Given the description of an element on the screen output the (x, y) to click on. 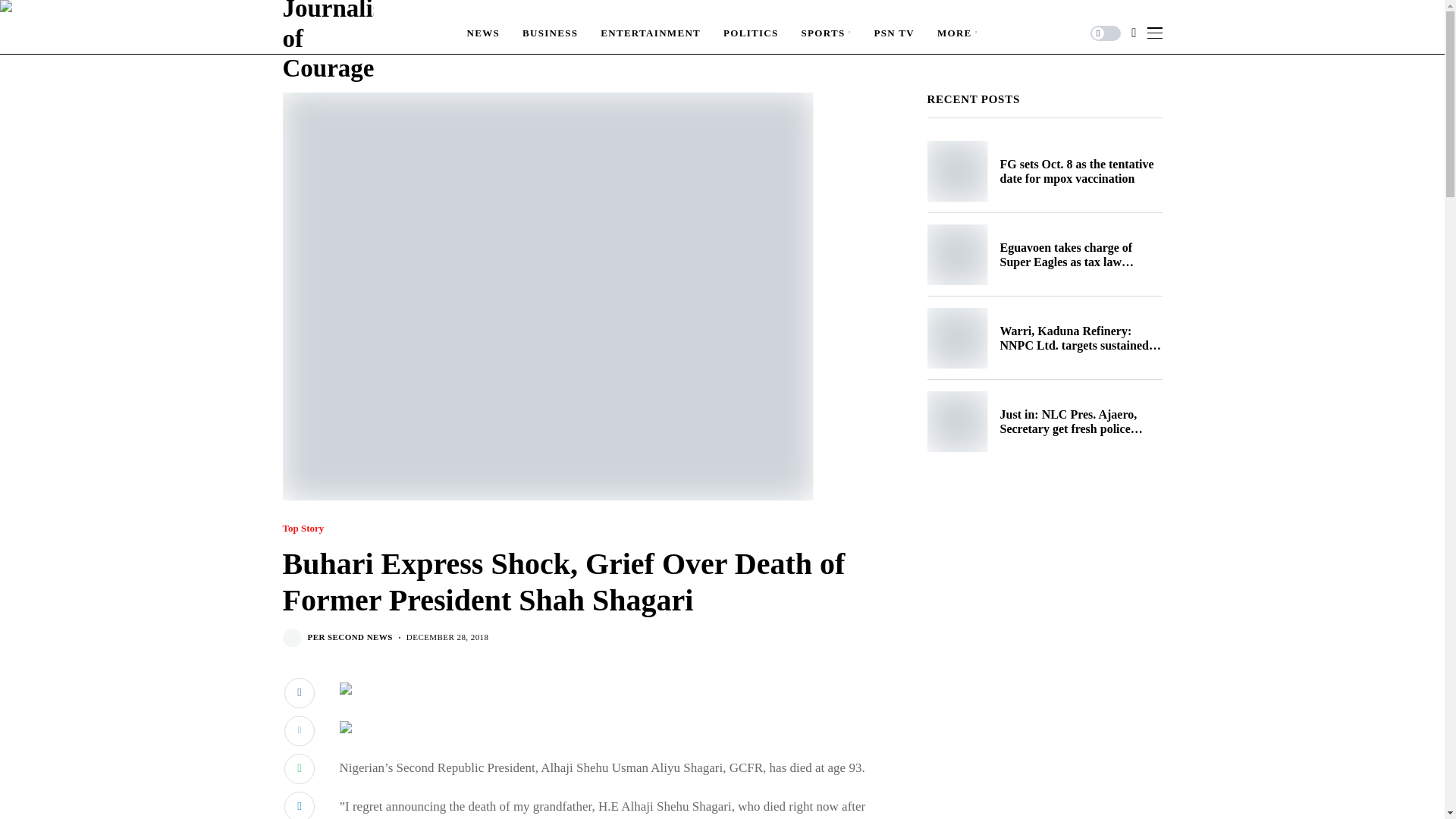
SPORTS (826, 33)
POLITICS (750, 33)
BUSINESS (550, 33)
MORE (957, 33)
Posts by Per Second News (350, 637)
ENTERTAINMENT (649, 33)
PSN TV (893, 33)
